Given the description of an element on the screen output the (x, y) to click on. 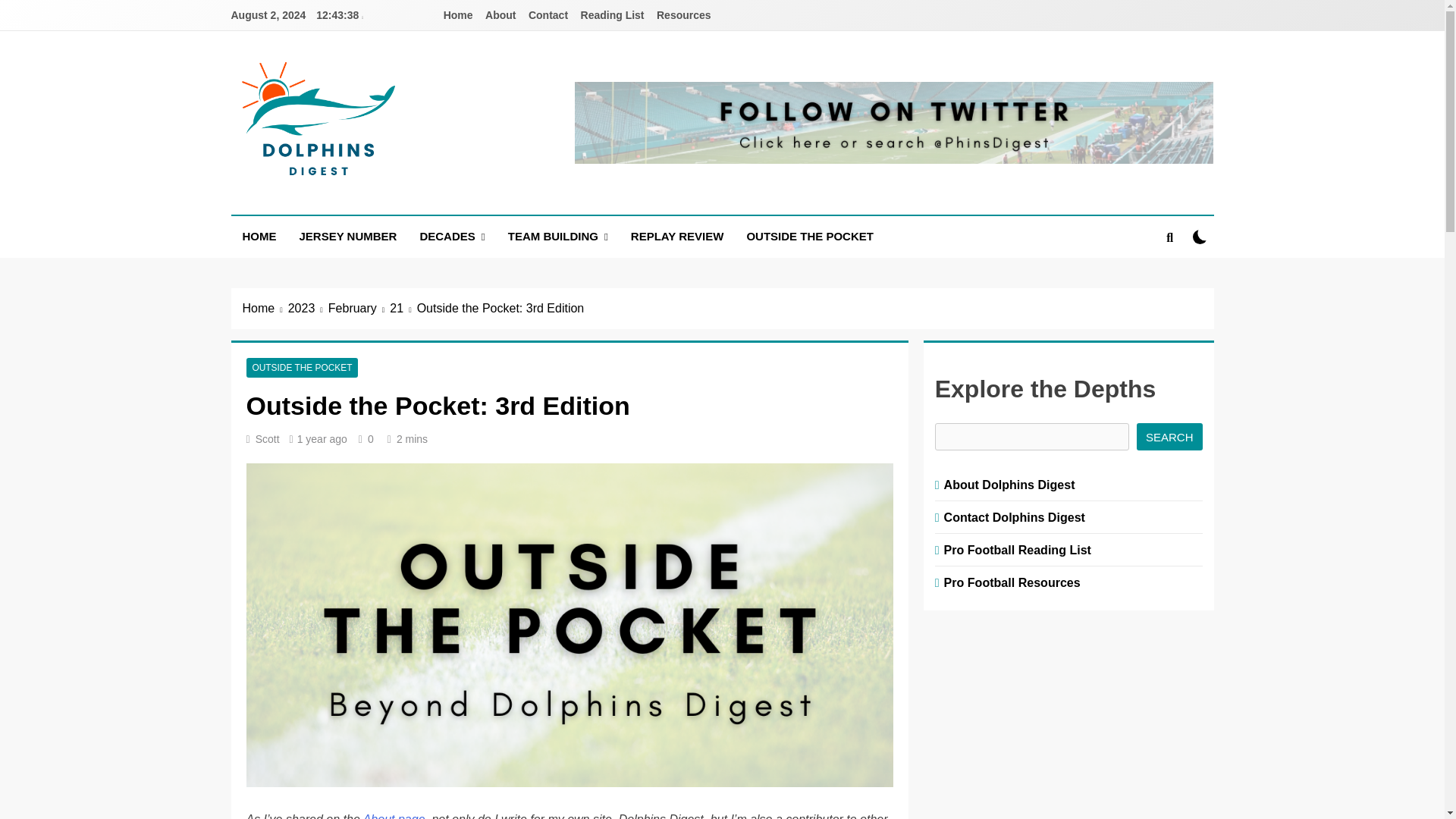
About page (393, 816)
February (359, 308)
21 (403, 308)
Home (265, 308)
OUTSIDE THE POCKET (301, 367)
Dolphins Digest (349, 200)
Contact (548, 15)
TEAM BUILDING (558, 236)
OUTSIDE THE POCKET (810, 236)
JERSEY NUMBER (348, 236)
